Given the description of an element on the screen output the (x, y) to click on. 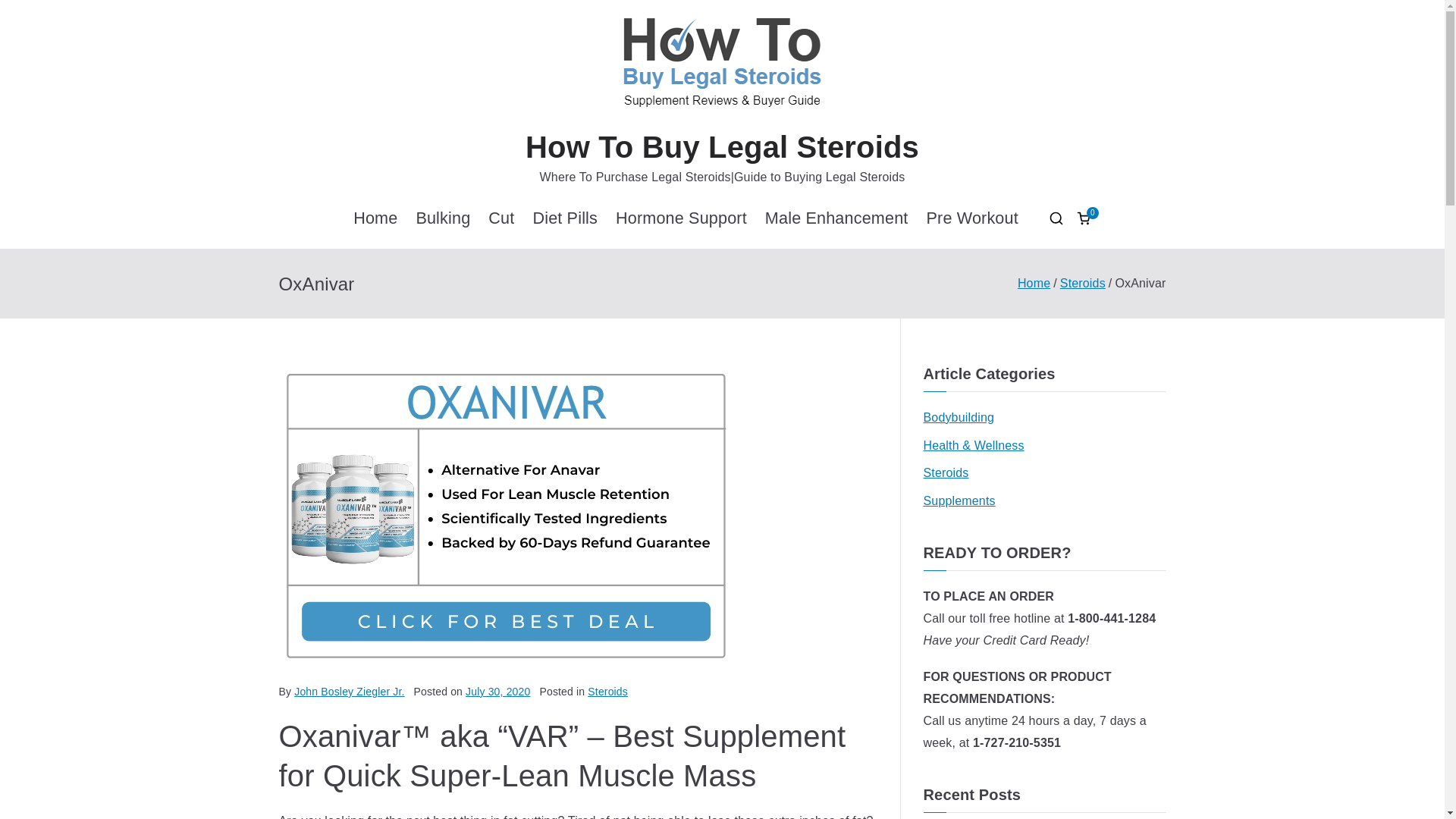
Pre Workout (971, 218)
Male Enhancement (836, 218)
July 30, 2020 (497, 691)
Home (1033, 282)
Steroids (946, 473)
Supplements (959, 501)
Home (375, 218)
Bulking (442, 218)
How To Buy Legal Steroids (721, 146)
Steroids (607, 691)
